Given the description of an element on the screen output the (x, y) to click on. 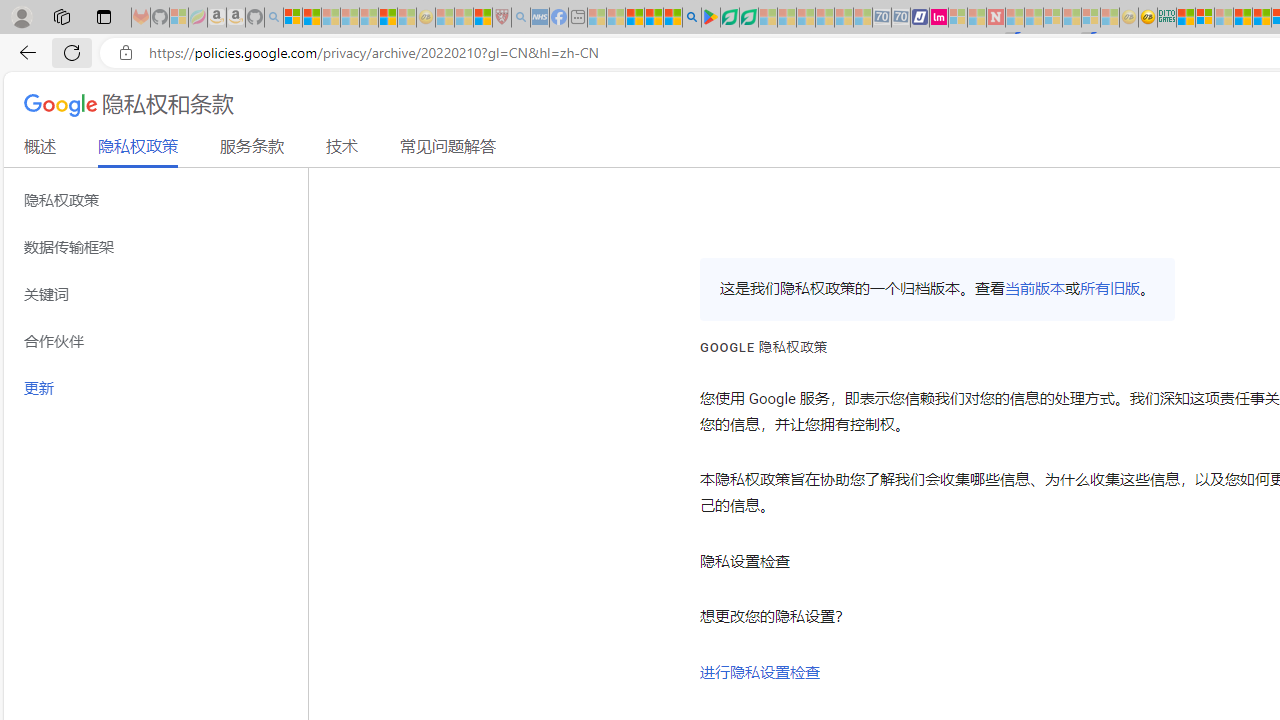
Jobs - lastminute.com Investor Portal (939, 17)
